Given the description of an element on the screen output the (x, y) to click on. 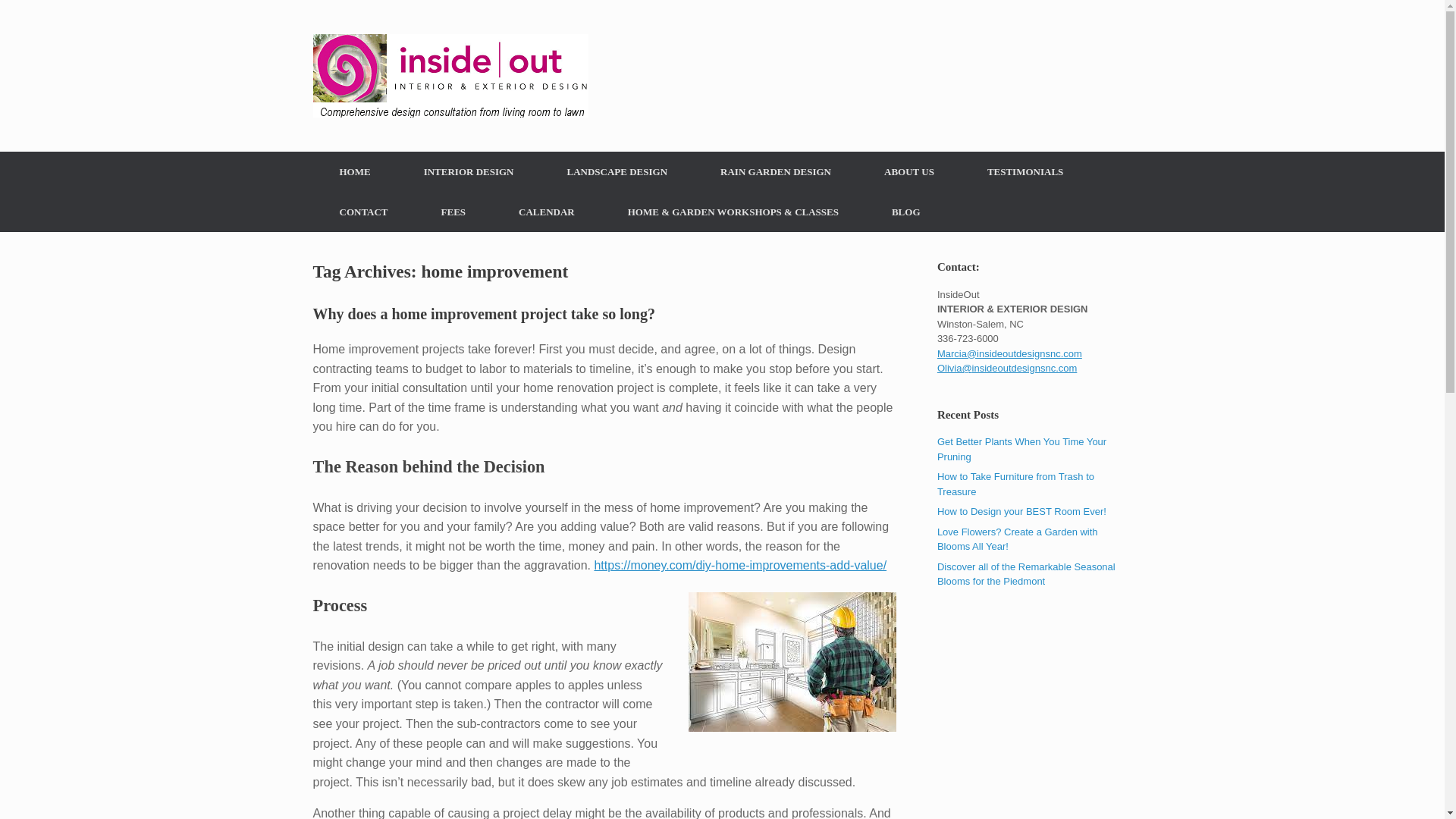
Why does a home improvement project take so long? (483, 313)
CALENDAR (546, 211)
Love Flowers? Create a Garden with Blooms All Year! (1017, 539)
BLOG (905, 211)
How to Design your BEST Room Ever! (1021, 511)
ABOUT US (908, 171)
TESTIMONIALS (1024, 171)
HOME (354, 171)
How to Take Furniture from Trash to Treasure (1015, 483)
INTERIOR DESIGN (468, 171)
RAIN GARDEN DESIGN (775, 171)
CONTACT (363, 211)
LANDSCAPE DESIGN (617, 171)
